Given the description of an element on the screen output the (x, y) to click on. 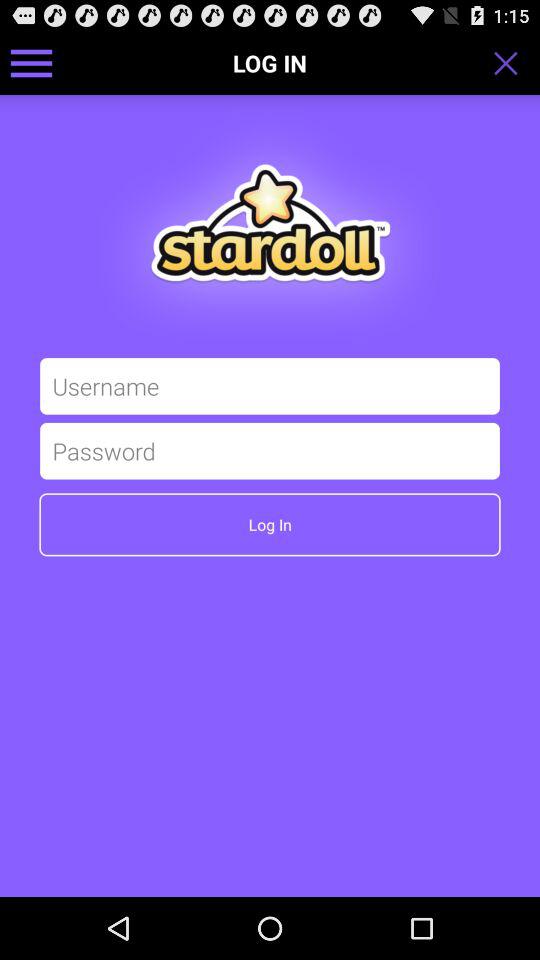
turn off icon at the top right corner (512, 62)
